Given the description of an element on the screen output the (x, y) to click on. 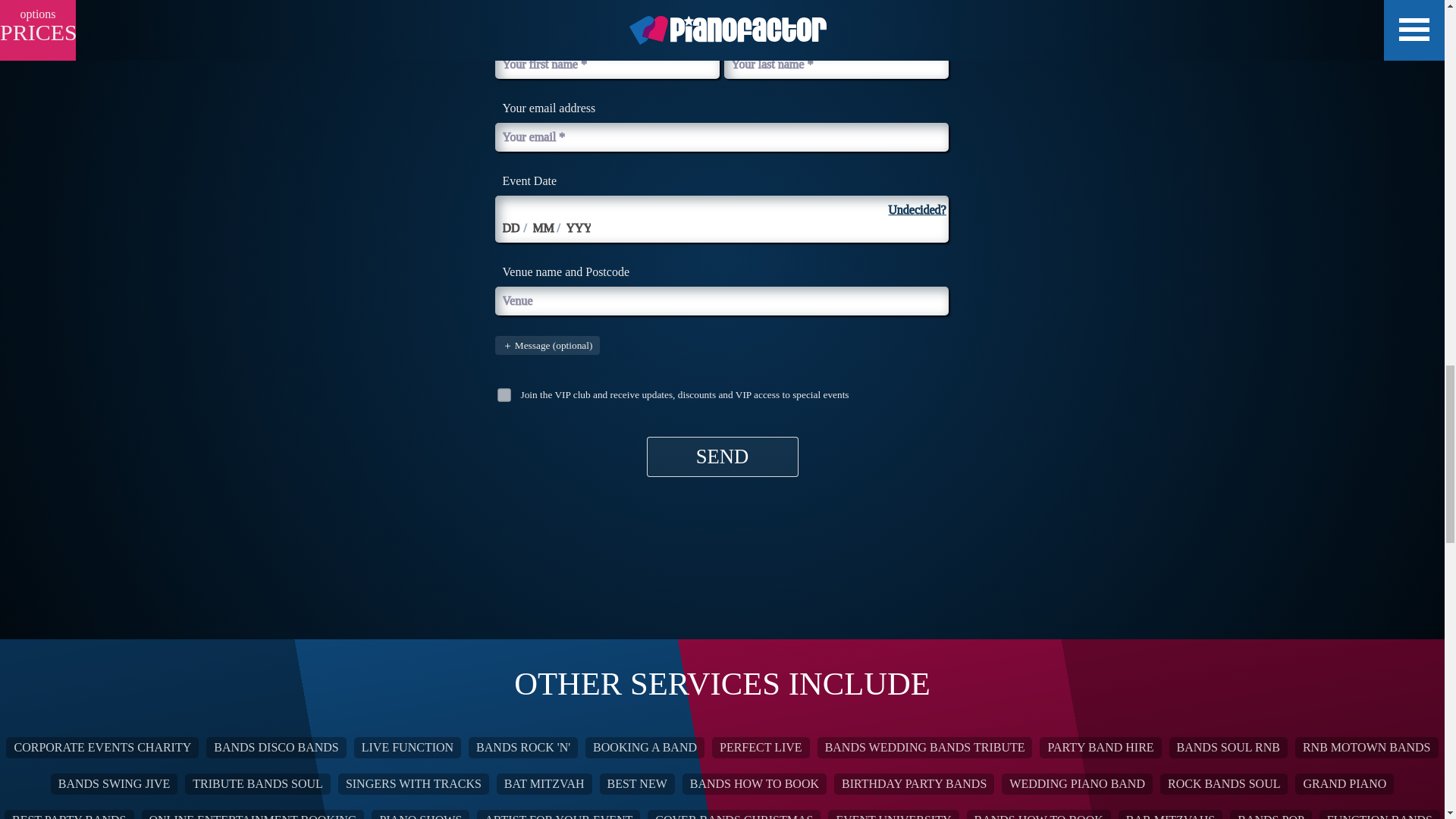
SEND (721, 456)
day (512, 227)
month (542, 227)
year (577, 227)
SEND (721, 456)
